Given the description of an element on the screen output the (x, y) to click on. 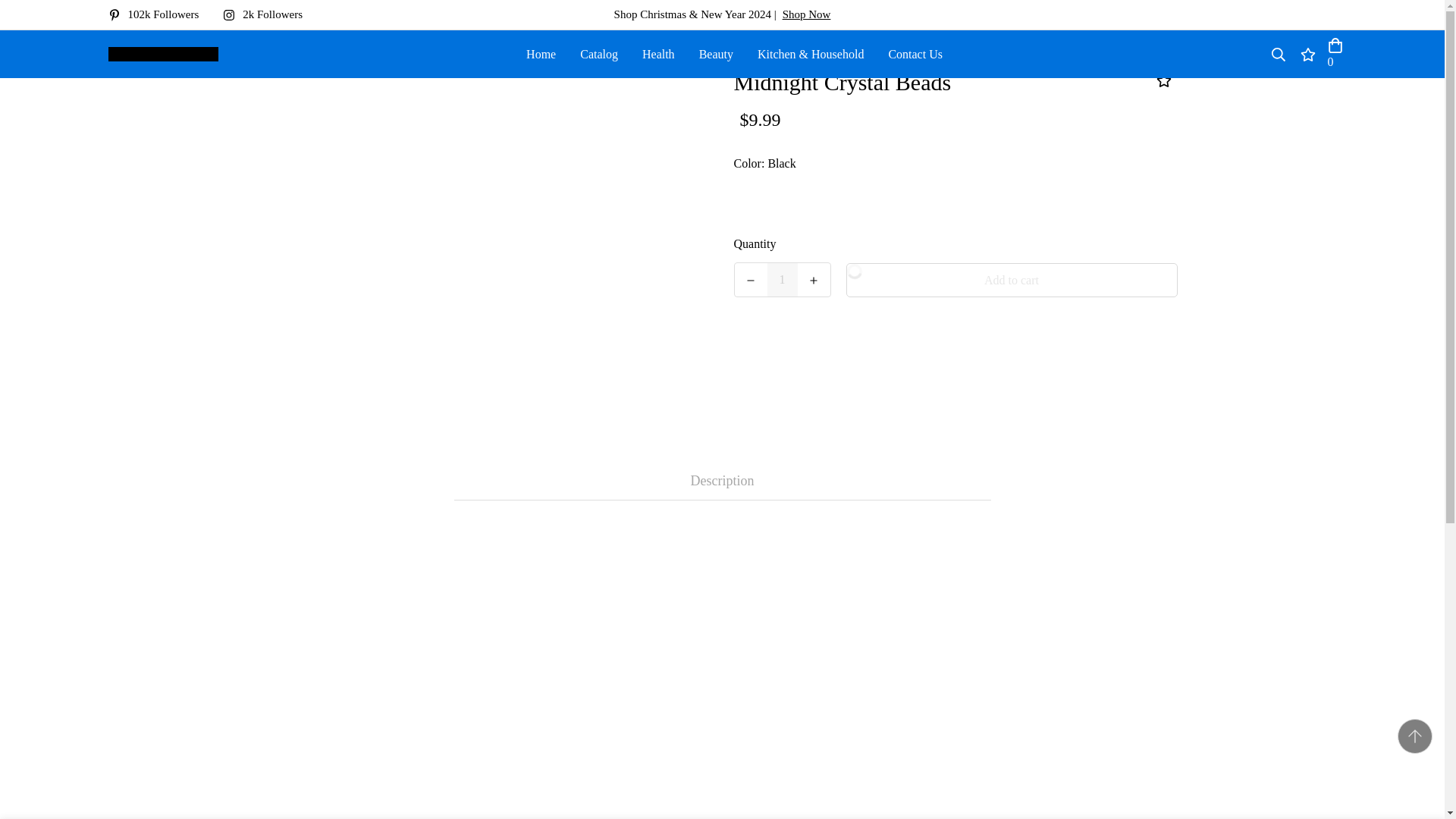
Shop Now (807, 14)
Health (658, 53)
102k Followers (158, 14)
2k Followers (268, 14)
Home (540, 53)
0 (1335, 53)
1 (782, 279)
Catalog (598, 53)
Contact Us (915, 53)
Beauty (716, 53)
